Given the description of an element on the screen output the (x, y) to click on. 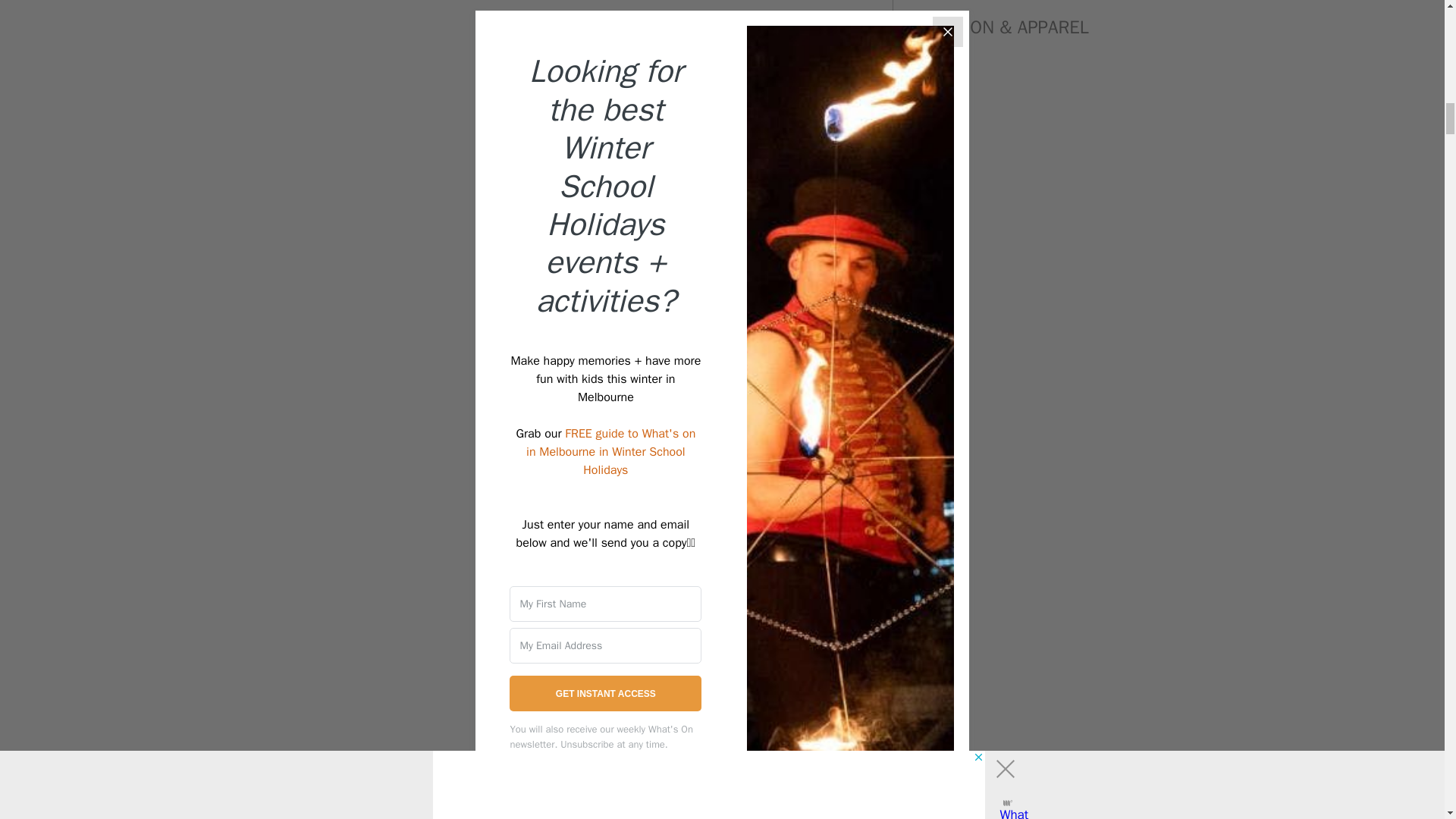
HOT: GoClimb, Coburg 3 (579, 87)
HOT: GoClimb, Coburg 5 (579, 781)
